Given the description of an element on the screen output the (x, y) to click on. 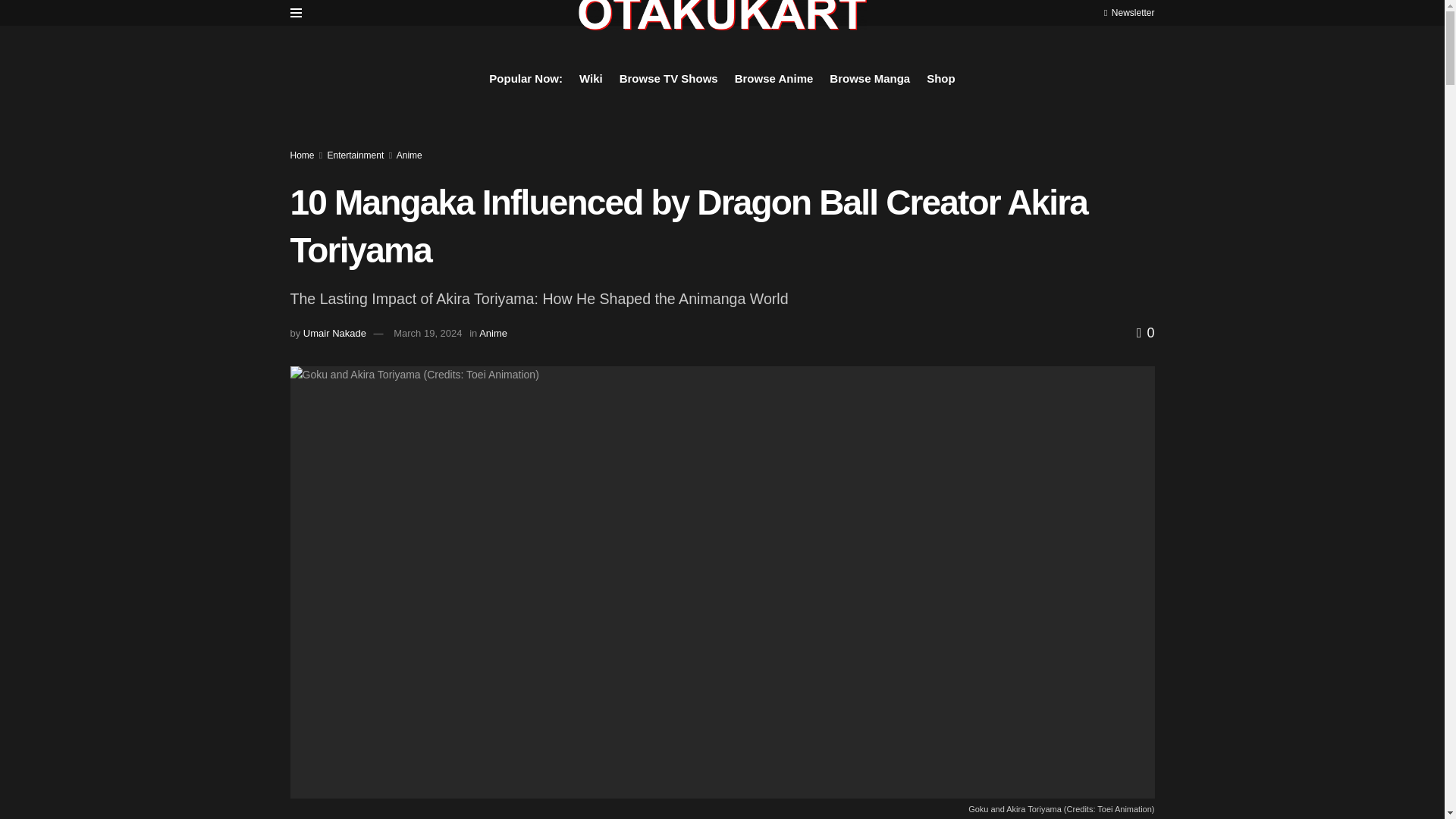
Umair Nakade (334, 333)
Anime (409, 154)
Home (301, 154)
0 (1145, 332)
Browse Anime (774, 78)
Entertainment (355, 154)
Newsletter (1128, 12)
Browse Manga (869, 78)
March 19, 2024 (427, 333)
Browse TV Shows (668, 78)
Anime (492, 333)
Popular Now: (525, 78)
